Given the description of an element on the screen output the (x, y) to click on. 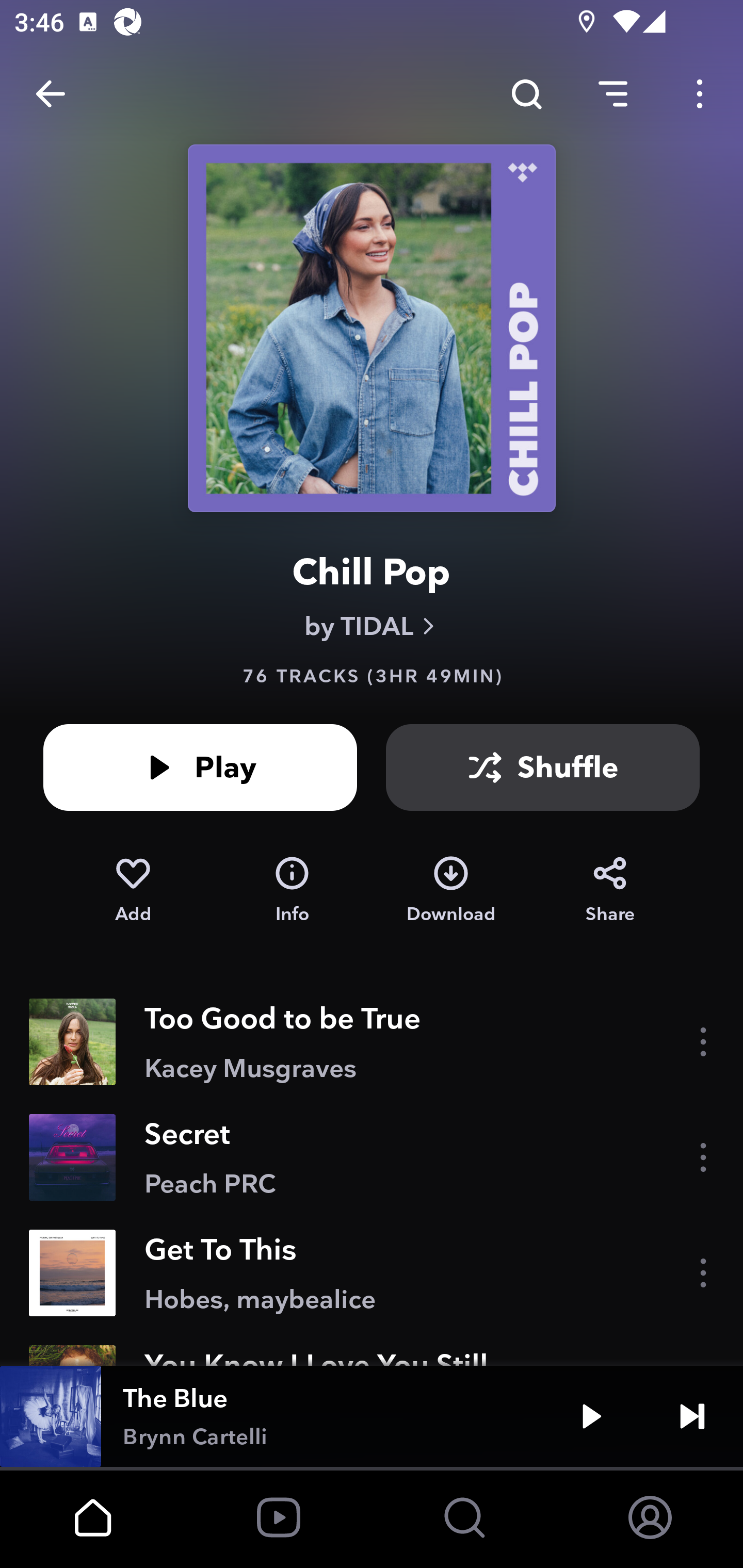
Back (50, 93)
Search (525, 93)
Sorting (612, 93)
Options (699, 93)
by TIDAL (371, 625)
Play (200, 767)
Shuffle (542, 767)
Add (132, 890)
Info (291, 890)
Download (450, 890)
Share (609, 890)
Too Good to be True Kacey Musgraves (371, 1041)
Secret Peach PRC (371, 1157)
Get To This Hobes, maybealice (371, 1273)
The Blue Brynn Cartelli Play (371, 1416)
Play (590, 1416)
